Given the description of an element on the screen output the (x, y) to click on. 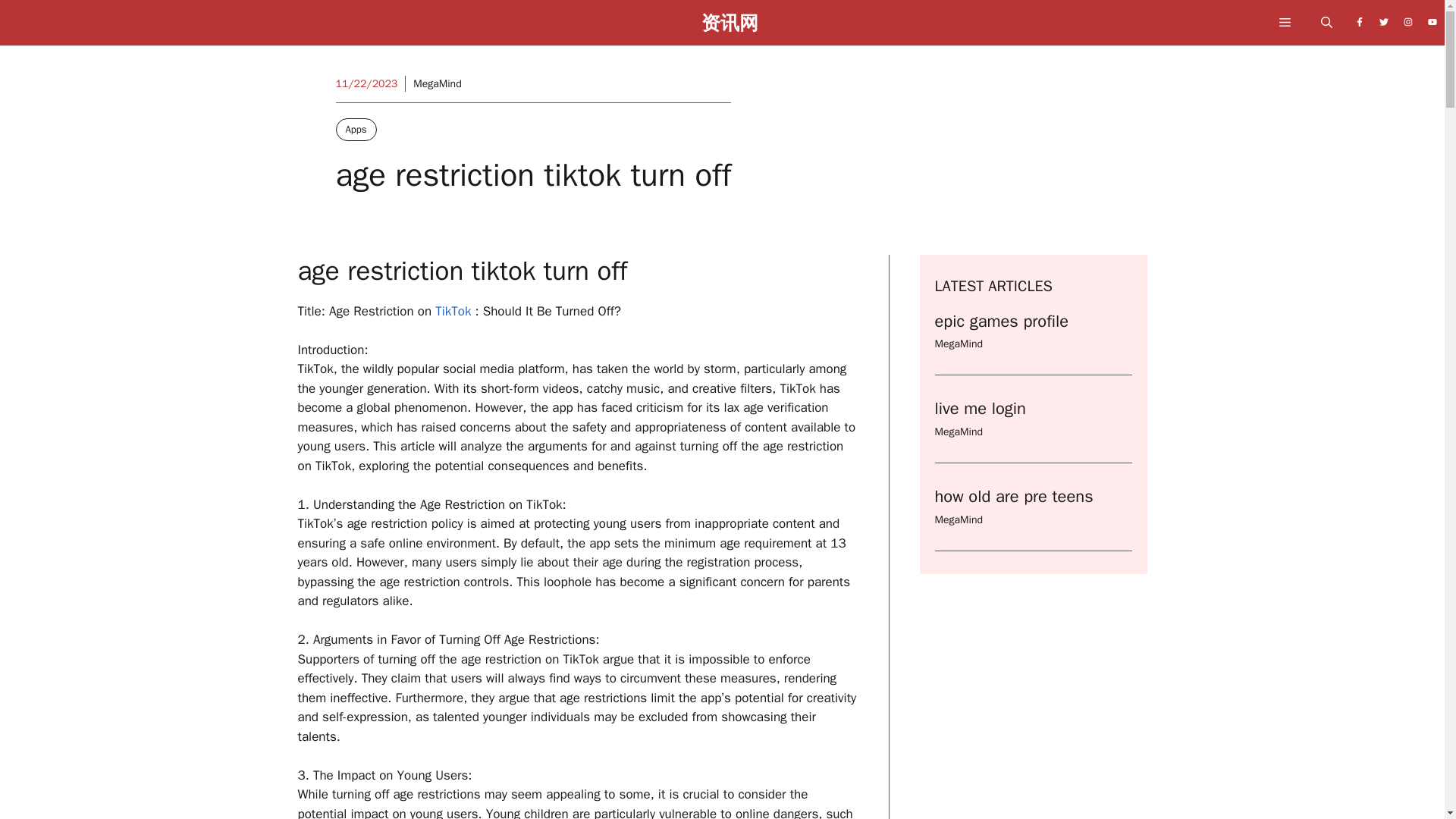
live me login (979, 408)
MegaMind (437, 83)
MegaMind (957, 343)
epic games profile (1001, 321)
Apps (354, 128)
MegaMind (957, 519)
TikTok (450, 311)
how old are pre teens (1013, 496)
MegaMind (957, 431)
